Given the description of an element on the screen output the (x, y) to click on. 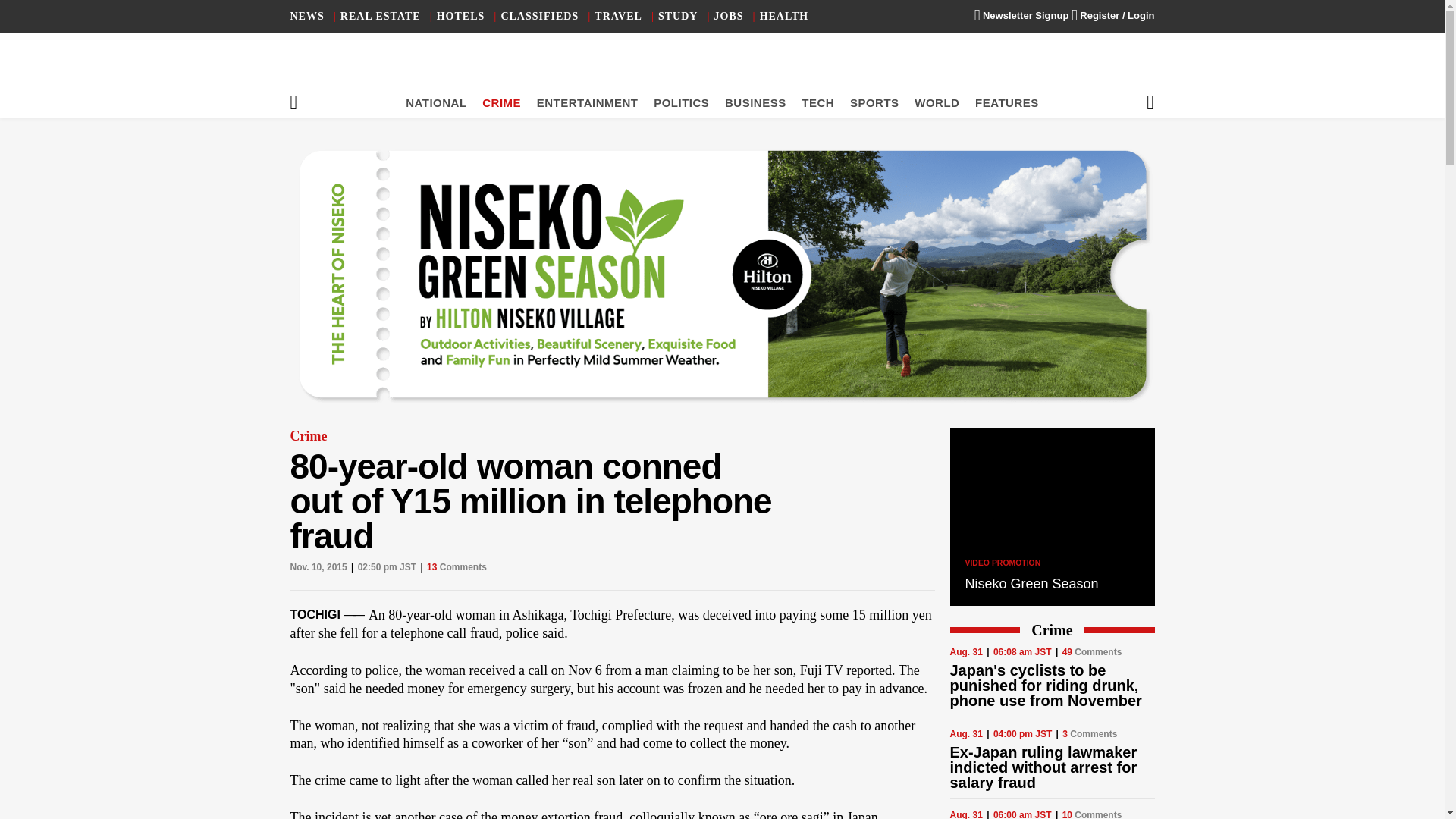
Japan Today (721, 67)
STUDY (677, 16)
HOTELS (460, 16)
BUSINESS (755, 102)
NATIONAL (435, 102)
CRIME (501, 102)
REAL ESTATE (380, 16)
WORLD (936, 102)
FEATURES (1007, 102)
